Given the description of an element on the screen output the (x, y) to click on. 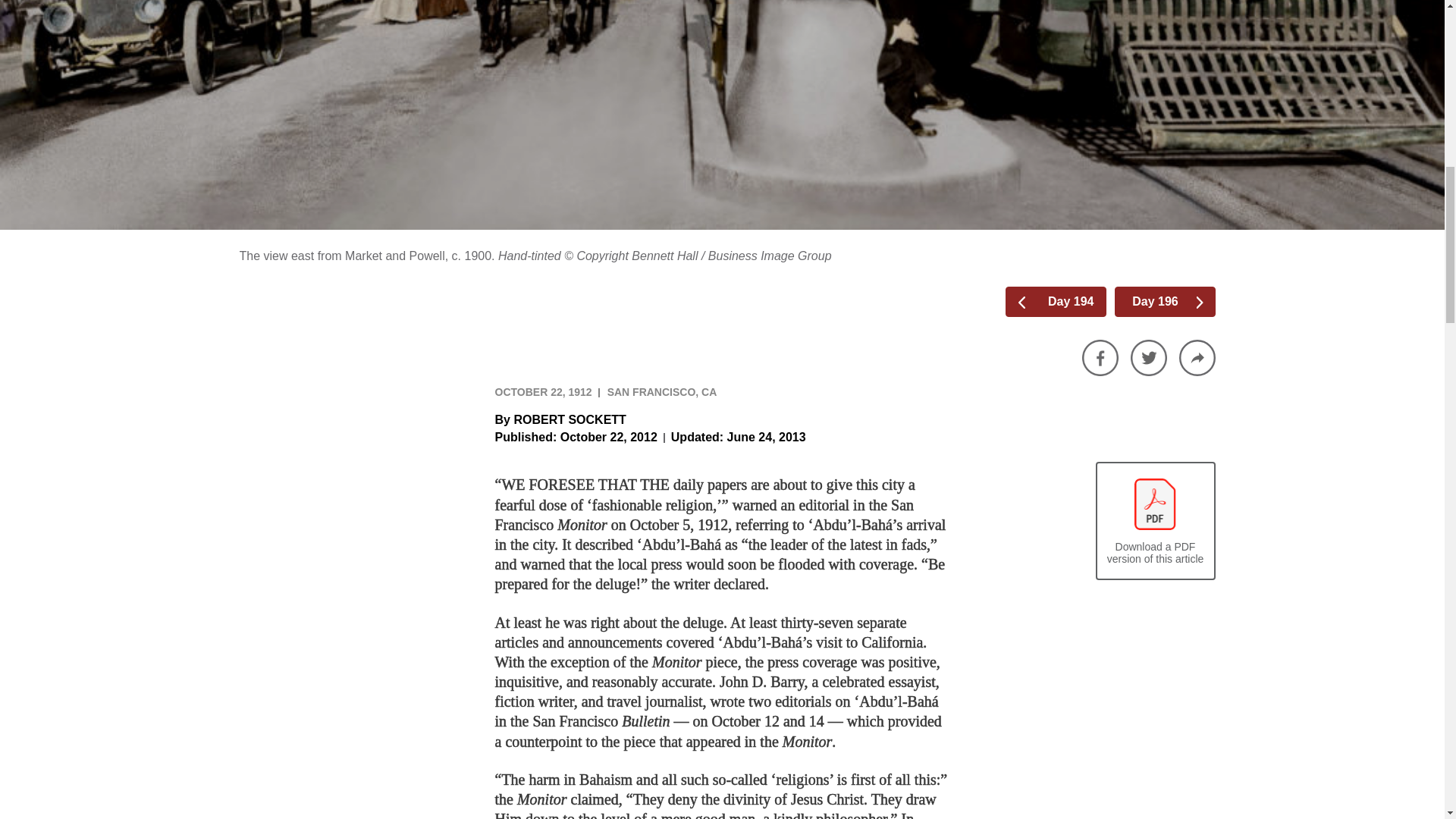
Day 194 (1050, 301)
Download a PDF version of this article (1154, 521)
Day 196 (1170, 301)
